Given the description of an element on the screen output the (x, y) to click on. 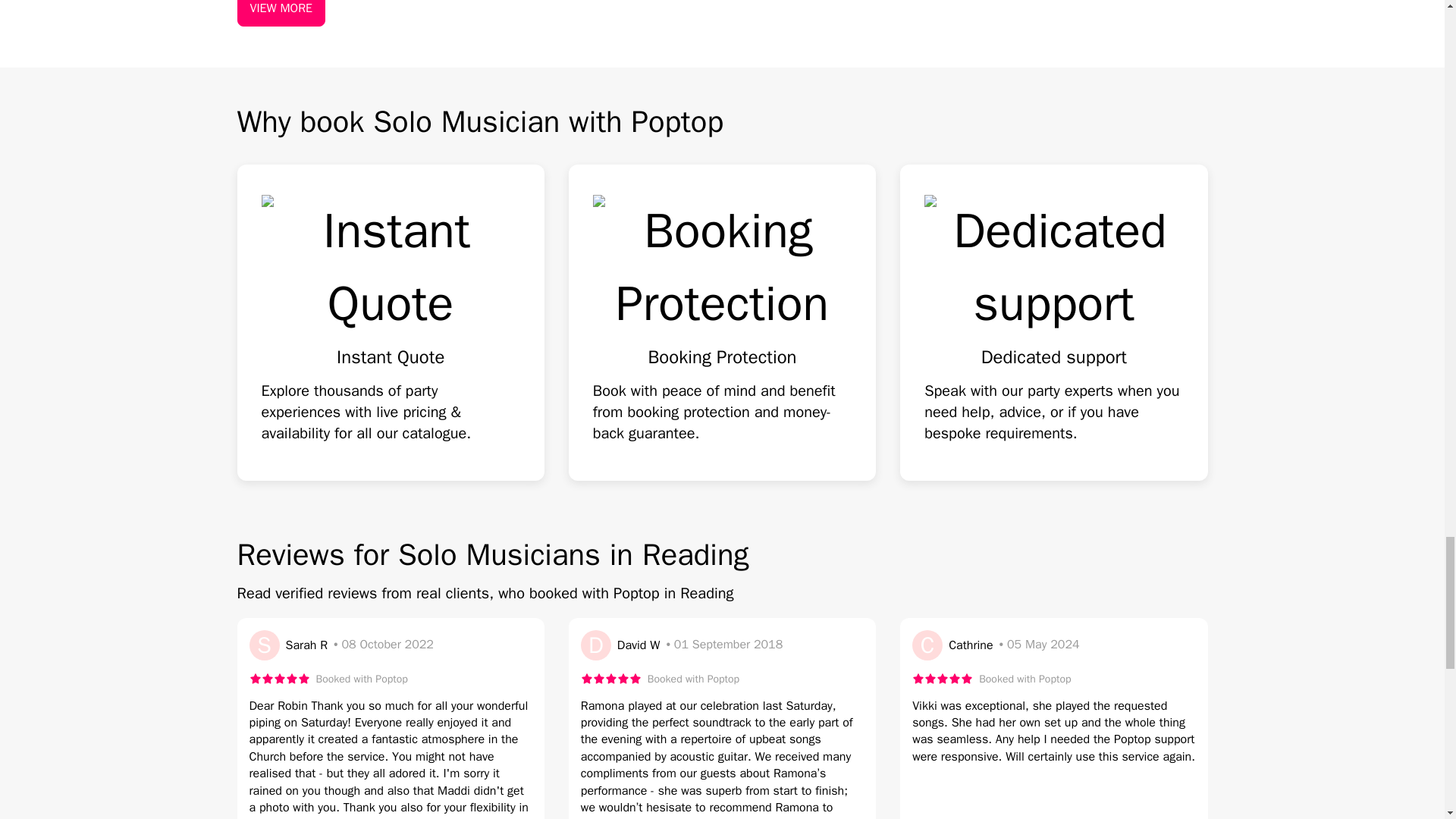
VIEW MORE (279, 13)
